Given the description of an element on the screen output the (x, y) to click on. 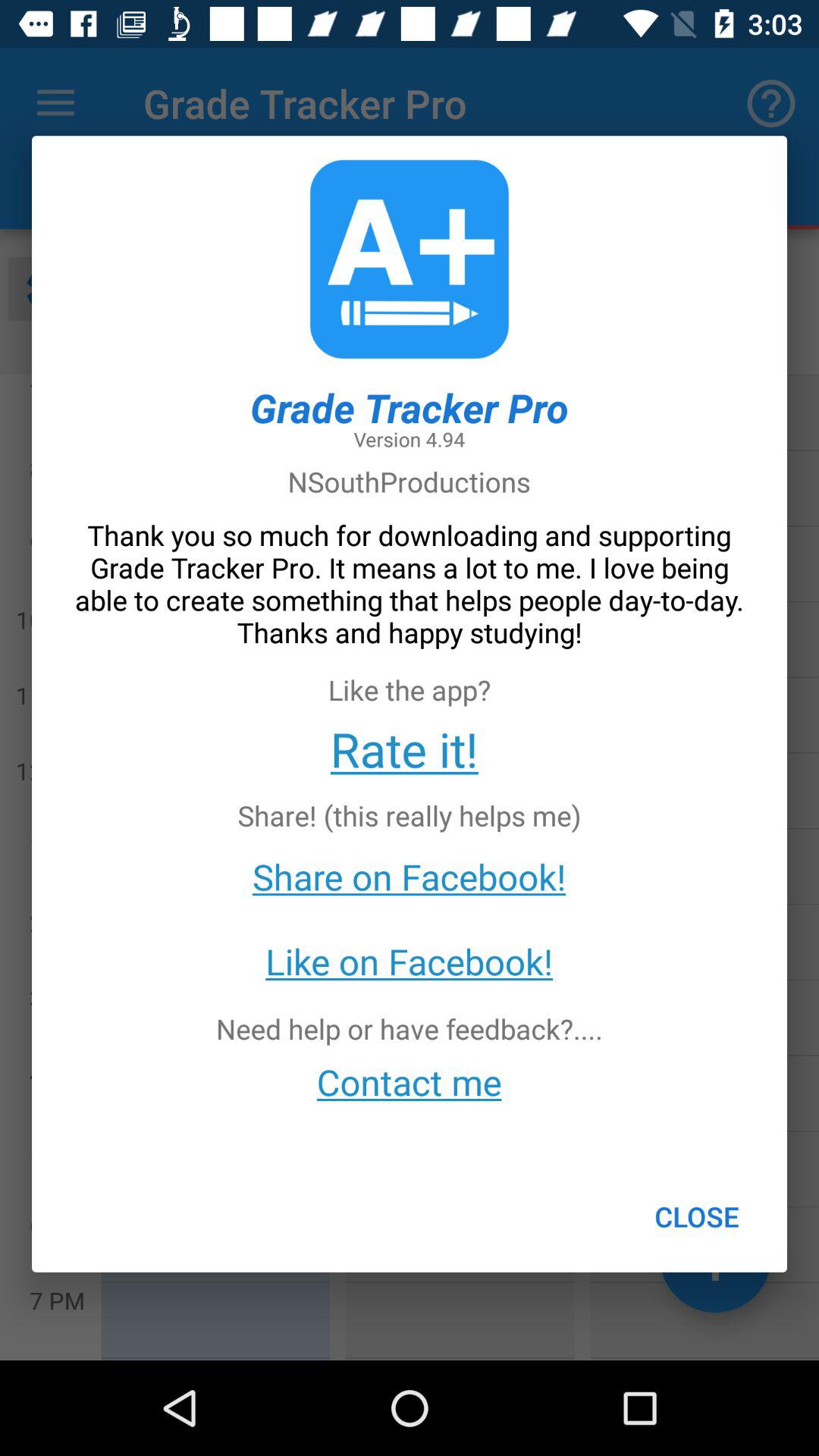
tap the contact me item (408, 1081)
